Given the description of an element on the screen output the (x, y) to click on. 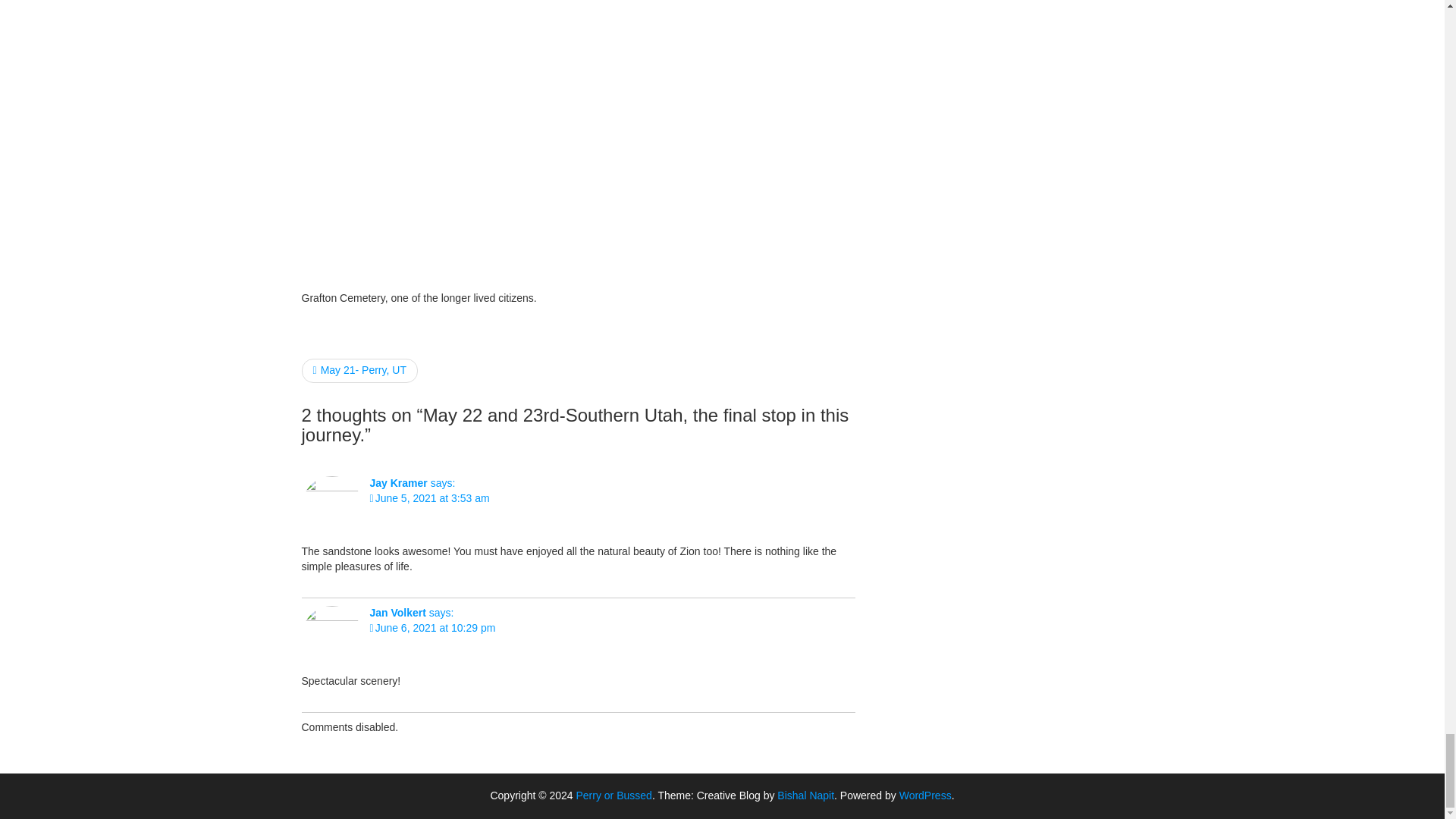
June 5, 2021 at 3:53 am (429, 498)
Bishal Napit (805, 795)
WordPress (925, 795)
Perry or Bussed (614, 795)
June 6, 2021 at 10:29 pm (432, 627)
May 21- Perry, UT (359, 370)
